Given the description of an element on the screen output the (x, y) to click on. 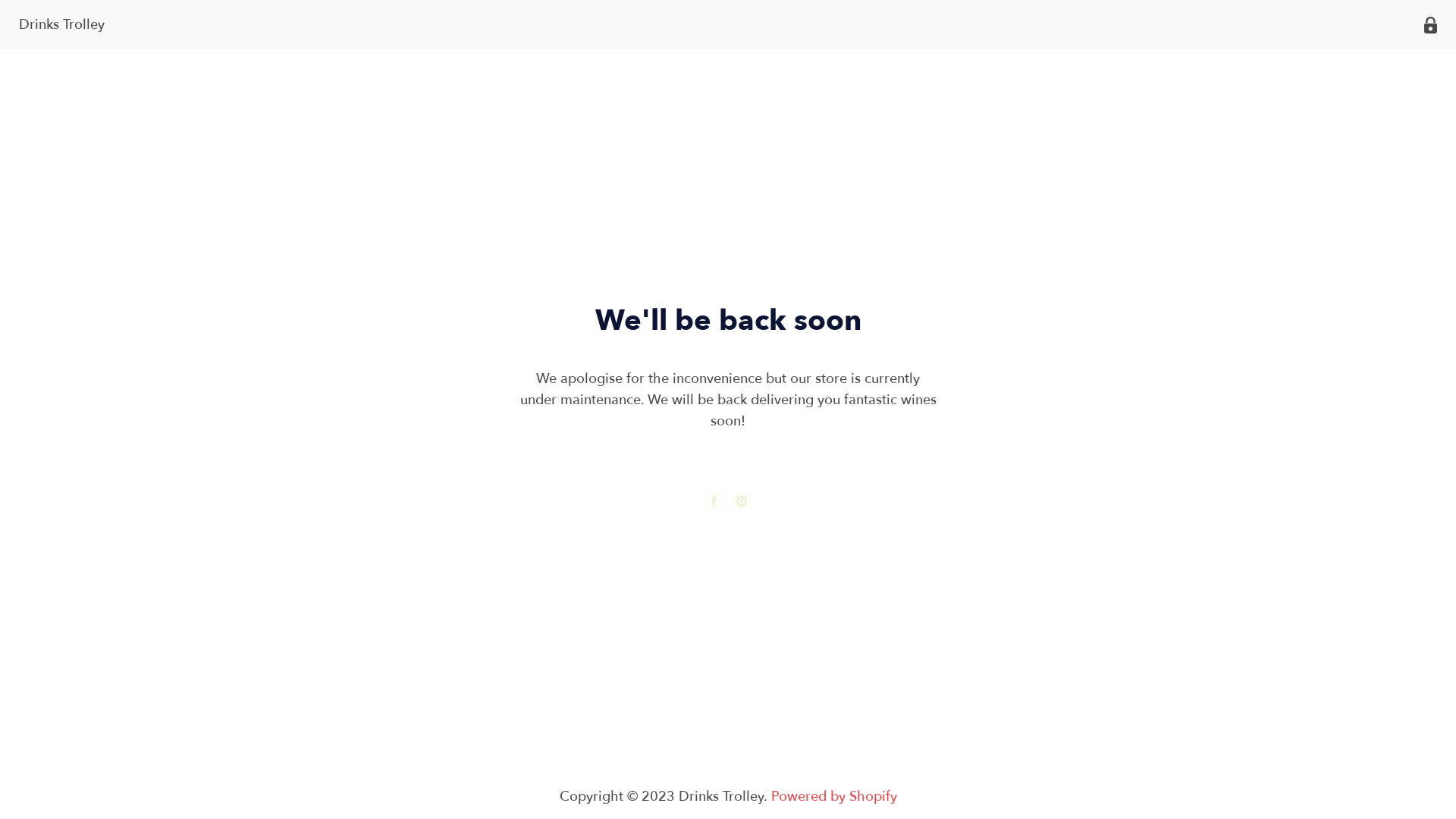
Find us on Facebook Element type: text (713, 500)
Powered by Shopify Element type: text (833, 796)
Find us on Instagram Element type: text (741, 500)
